Given the description of an element on the screen output the (x, y) to click on. 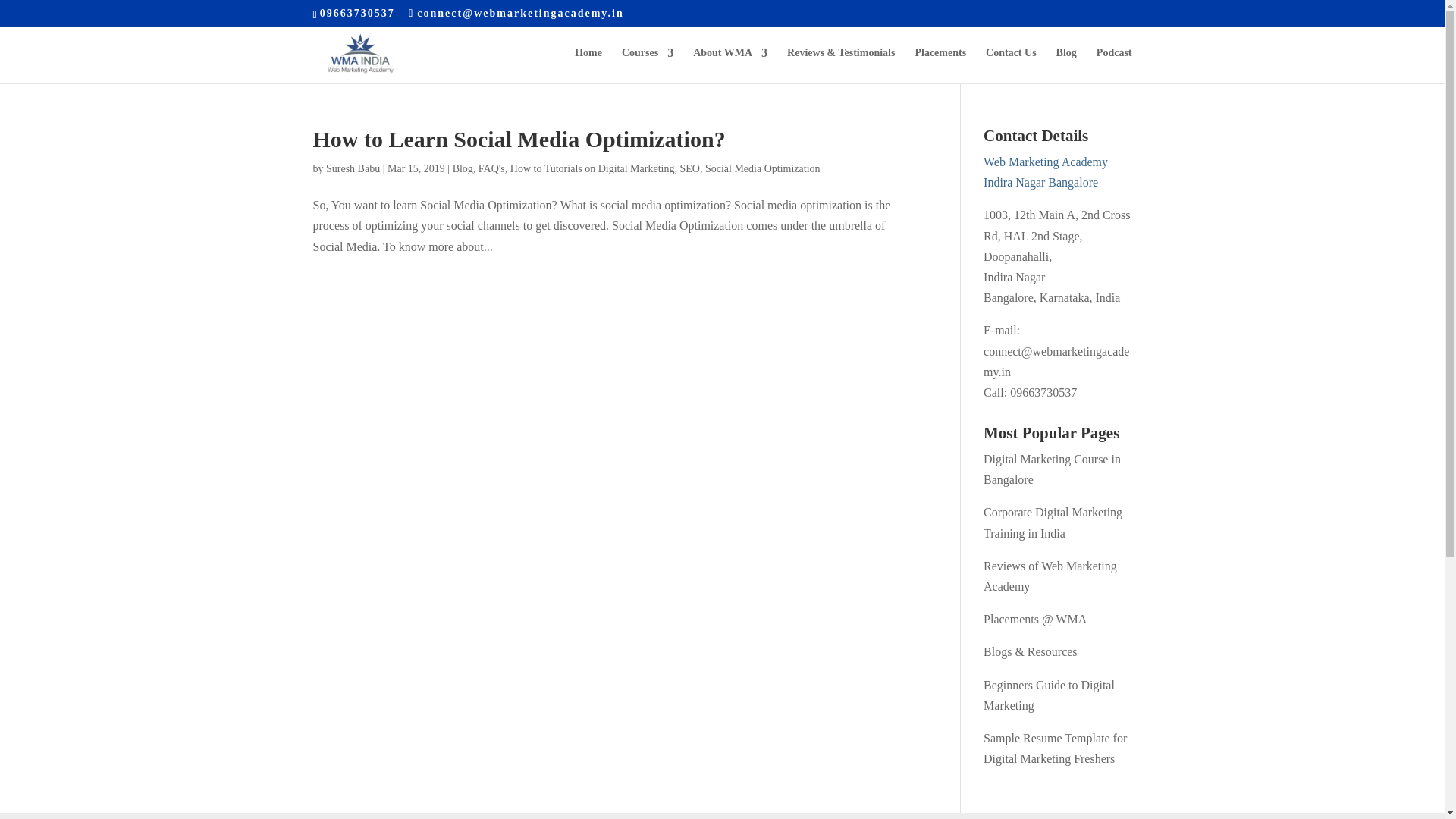
About WMA (730, 65)
Placements (940, 65)
Beginners Guide to Digital Marketing (1049, 694)
Podcast (1114, 65)
Blog (462, 168)
Courses (646, 65)
SEO (688, 168)
Reviews of Web Marketing Academy (1050, 575)
FAQ's (492, 168)
Suresh Babu (353, 168)
Social Media Optimization (762, 168)
How to Tutorials on Digital Marketing (593, 168)
Corporate Digital Marketing Training in India (1053, 522)
Contact Us (1010, 65)
Sample Resume Template for Digital Marketing Freshers (1055, 748)
